Given the description of an element on the screen output the (x, y) to click on. 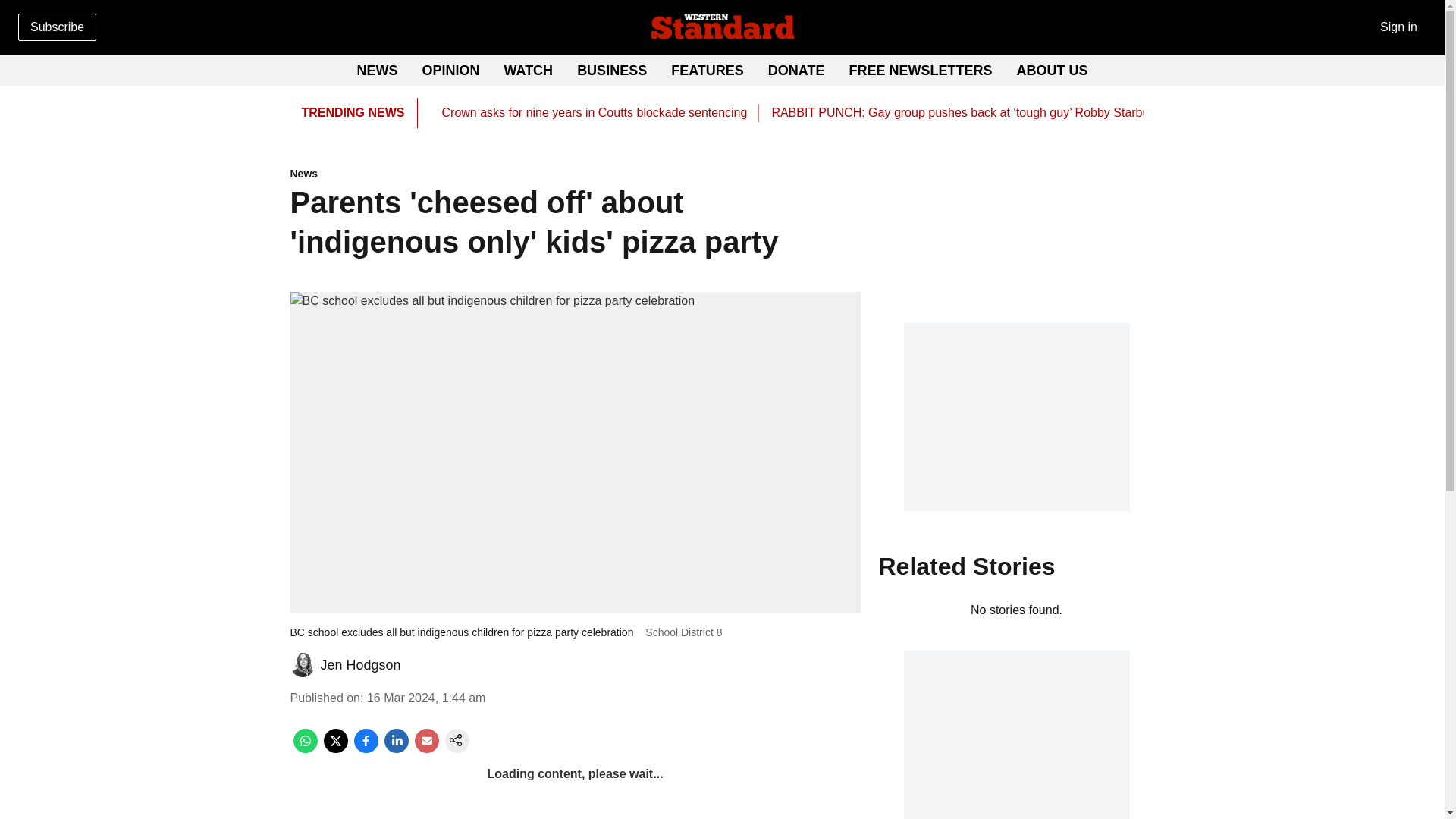
FREE NEWSLETTERS (920, 70)
FEATURES (707, 70)
Crown asks for nine years in Coutts blockade sentencing (593, 113)
BUSINESS (611, 70)
WATCH (528, 70)
DONATE (796, 70)
